Given the description of an element on the screen output the (x, y) to click on. 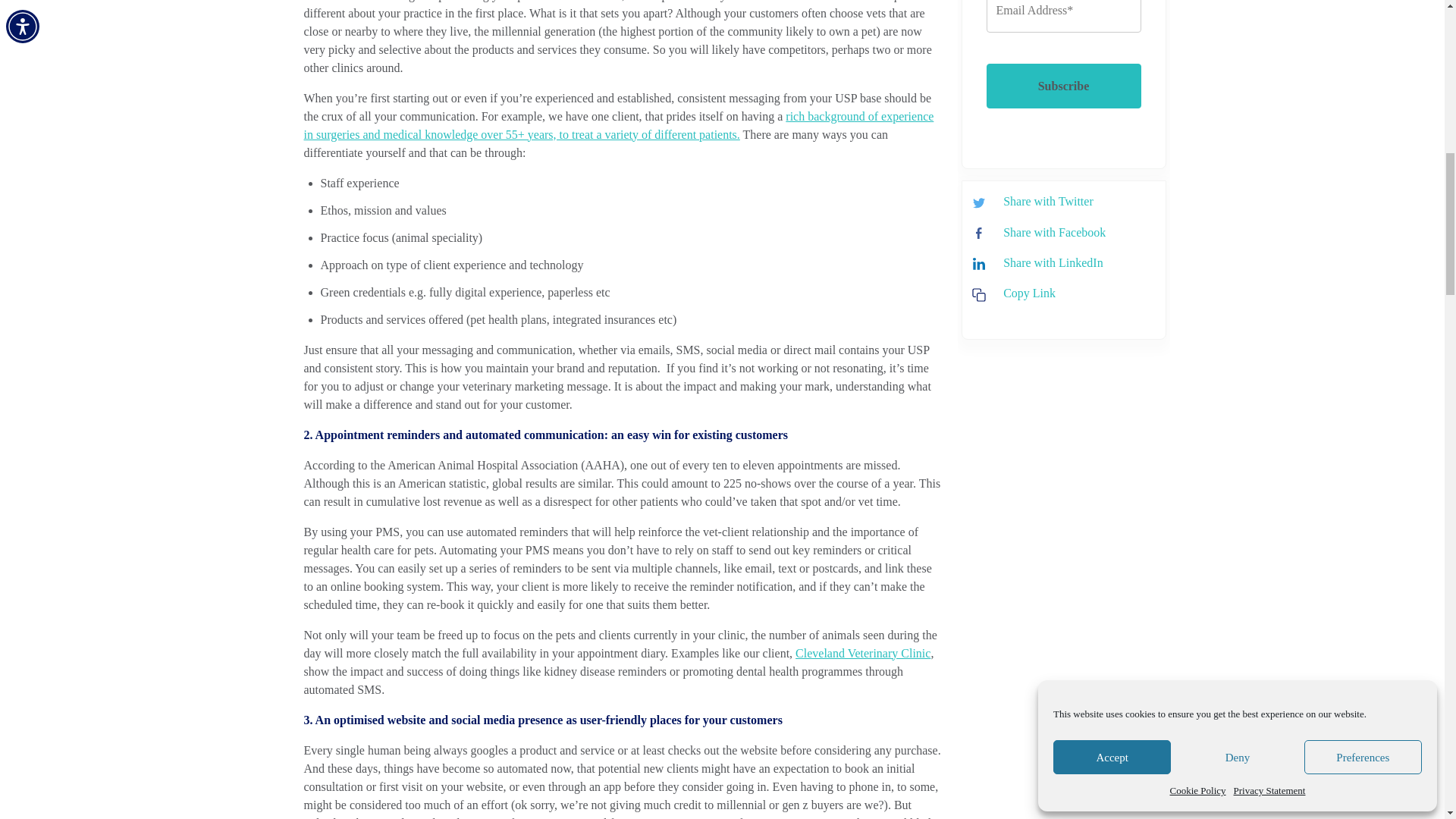
Subscribe (1062, 85)
